Given the description of an element on the screen output the (x, y) to click on. 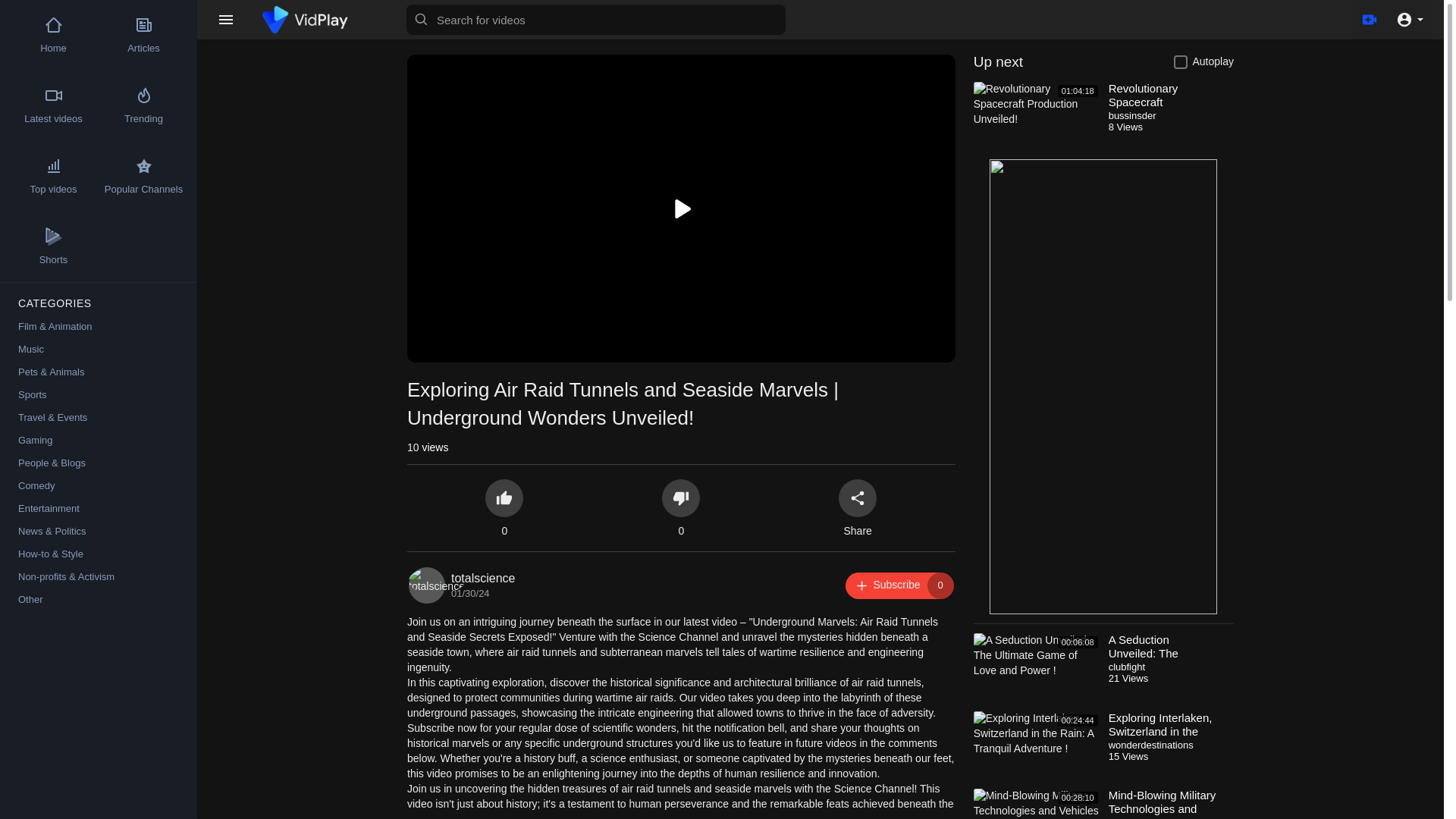
00:06:08 (1037, 669)
00:28:10 (1037, 803)
00:24:44 (1037, 746)
totalscience (483, 577)
01:04:18 (899, 585)
